Given the description of an element on the screen output the (x, y) to click on. 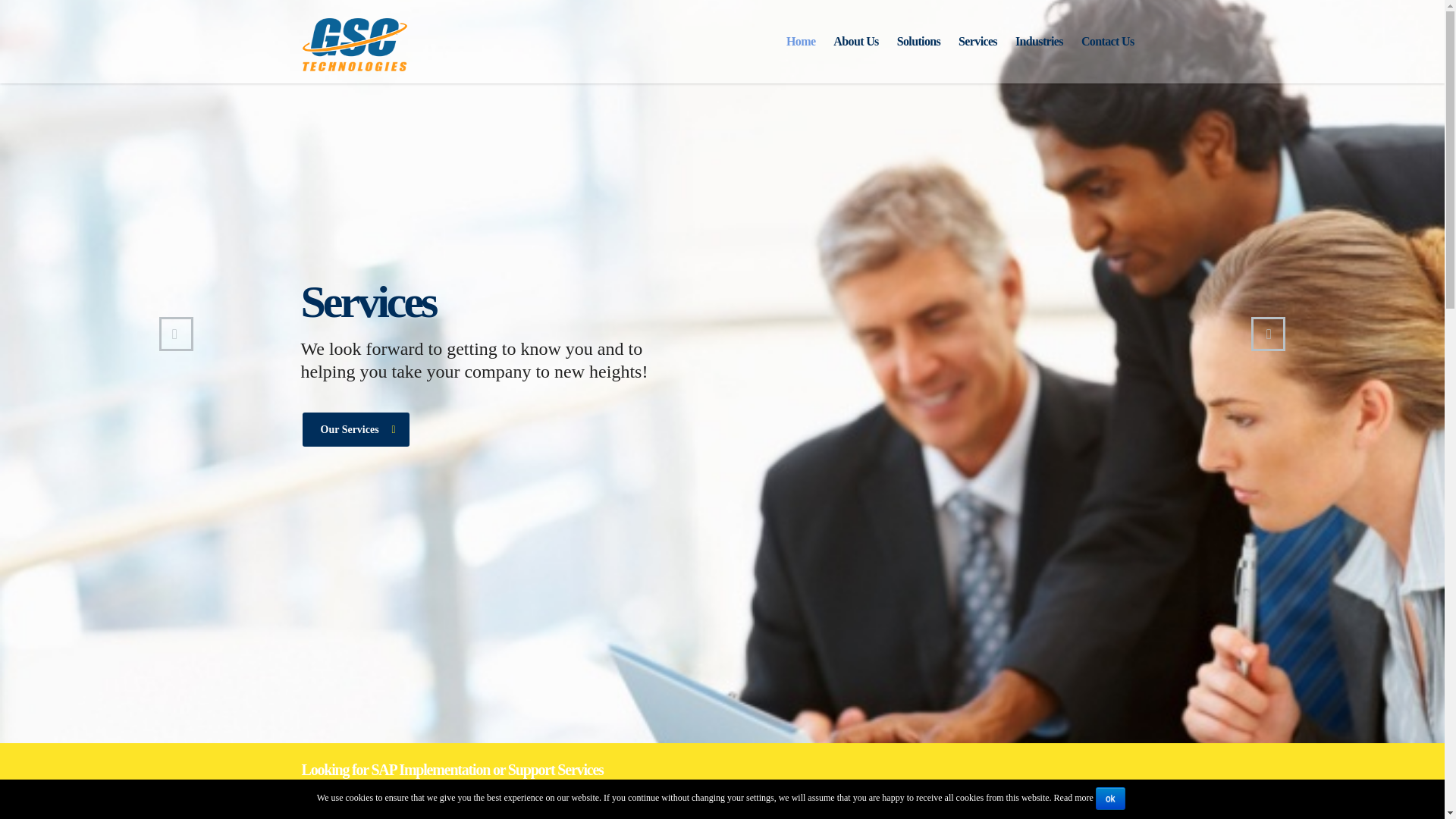
Services (977, 41)
Home (800, 41)
About Us (855, 41)
ok (1110, 798)
Industries (1038, 41)
Solutions (918, 41)
Contact Us (1106, 41)
